Given the description of an element on the screen output the (x, y) to click on. 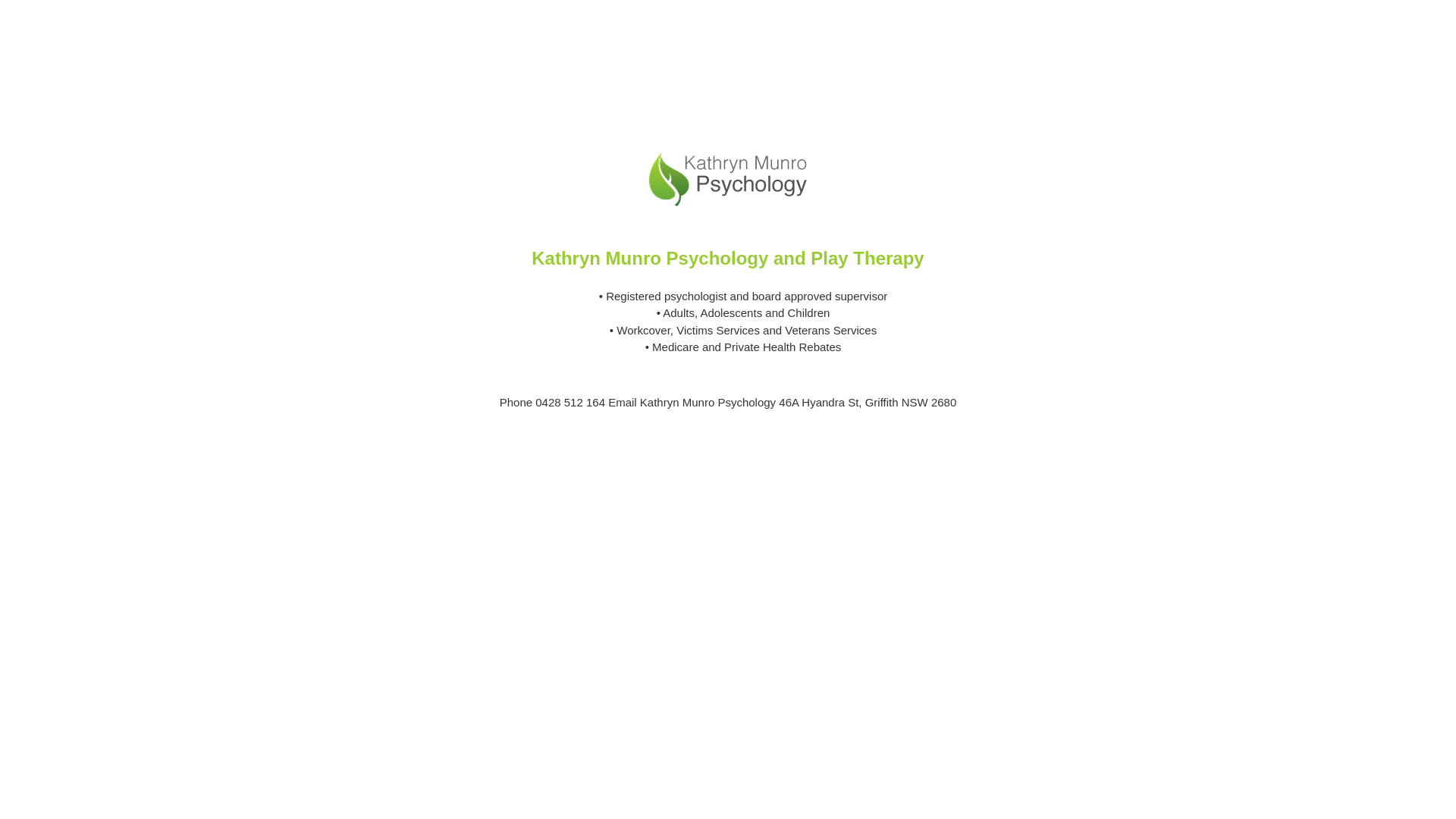
Kathryn Munro Psychology Element type: text (707, 401)
0428 512 164 Element type: text (571, 401)
46A Hyandra St, Griffith NSW 2680 Element type: text (867, 401)
